Given the description of an element on the screen output the (x, y) to click on. 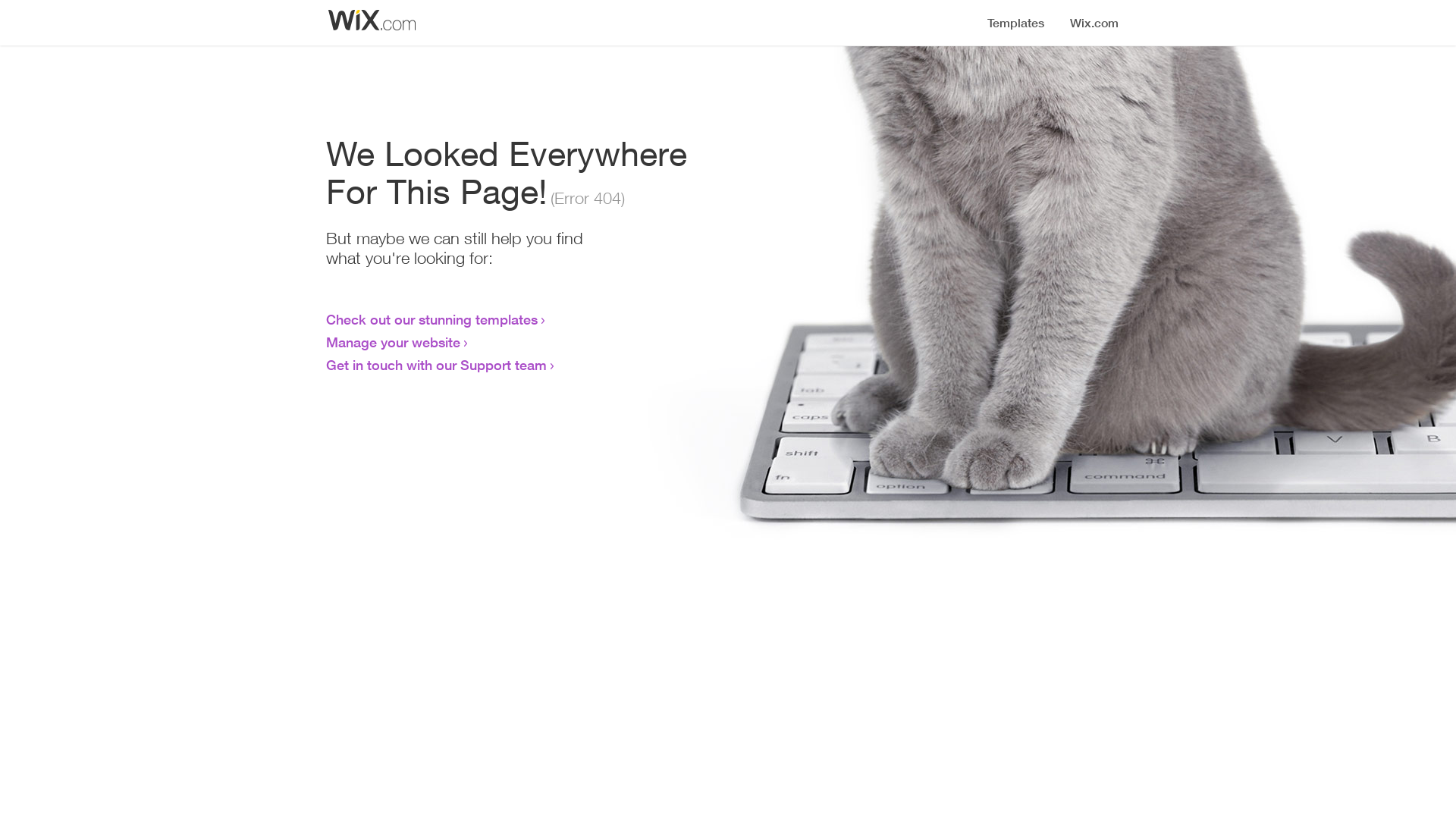
Check out our stunning templates Element type: text (431, 318)
Get in touch with our Support team Element type: text (436, 364)
Manage your website Element type: text (393, 341)
